Given the description of an element on the screen output the (x, y) to click on. 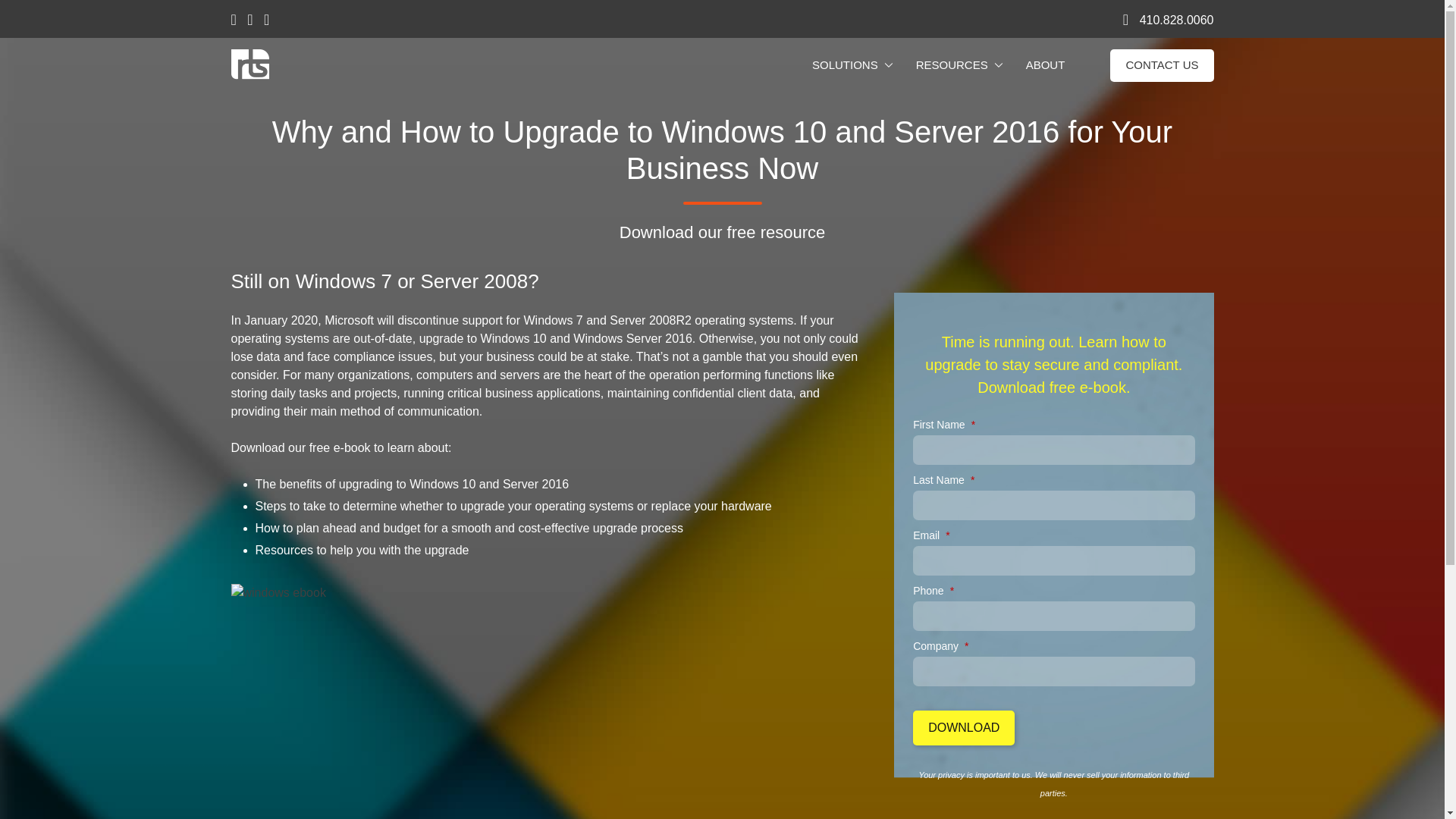
410.828.0060 (1177, 19)
RESOURCES (951, 65)
Download (963, 727)
CONTACT US (1160, 65)
ABOUT (1045, 65)
Download (963, 727)
SOLUTIONS (845, 65)
